Given the description of an element on the screen output the (x, y) to click on. 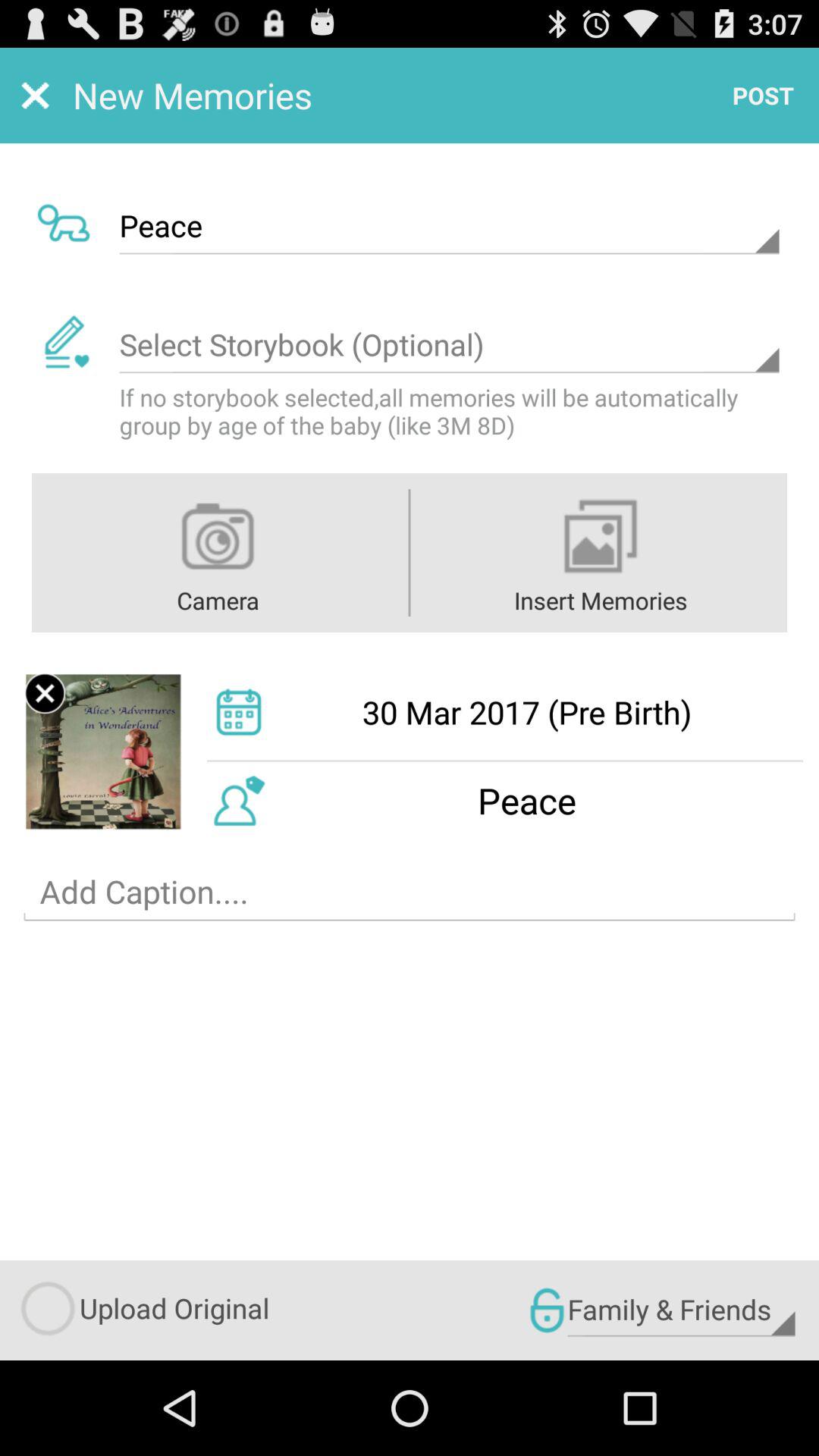
drop down menu holding storybooks (449, 345)
